Given the description of an element on the screen output the (x, y) to click on. 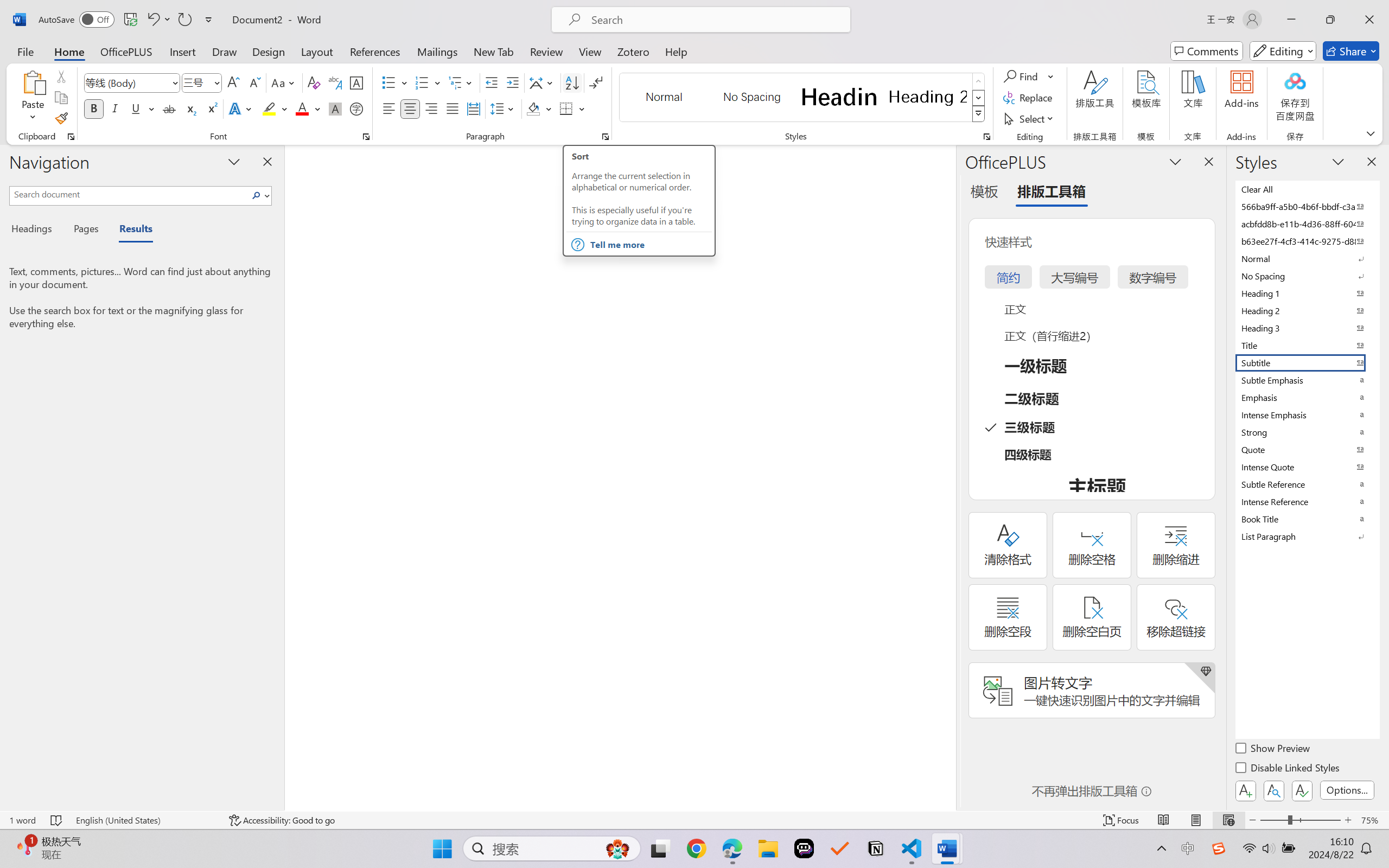
Intense Quote (1306, 466)
Align Left (388, 108)
Font Size (201, 82)
Web Layout (1228, 819)
Character Border (356, 82)
AutomationID: QuickStylesGallery (802, 97)
Task Pane Options (1175, 161)
Tell me more (649, 243)
Character Shading (334, 108)
Disable Linked Styles (1287, 769)
Quote (1306, 449)
